Given the description of an element on the screen output the (x, y) to click on. 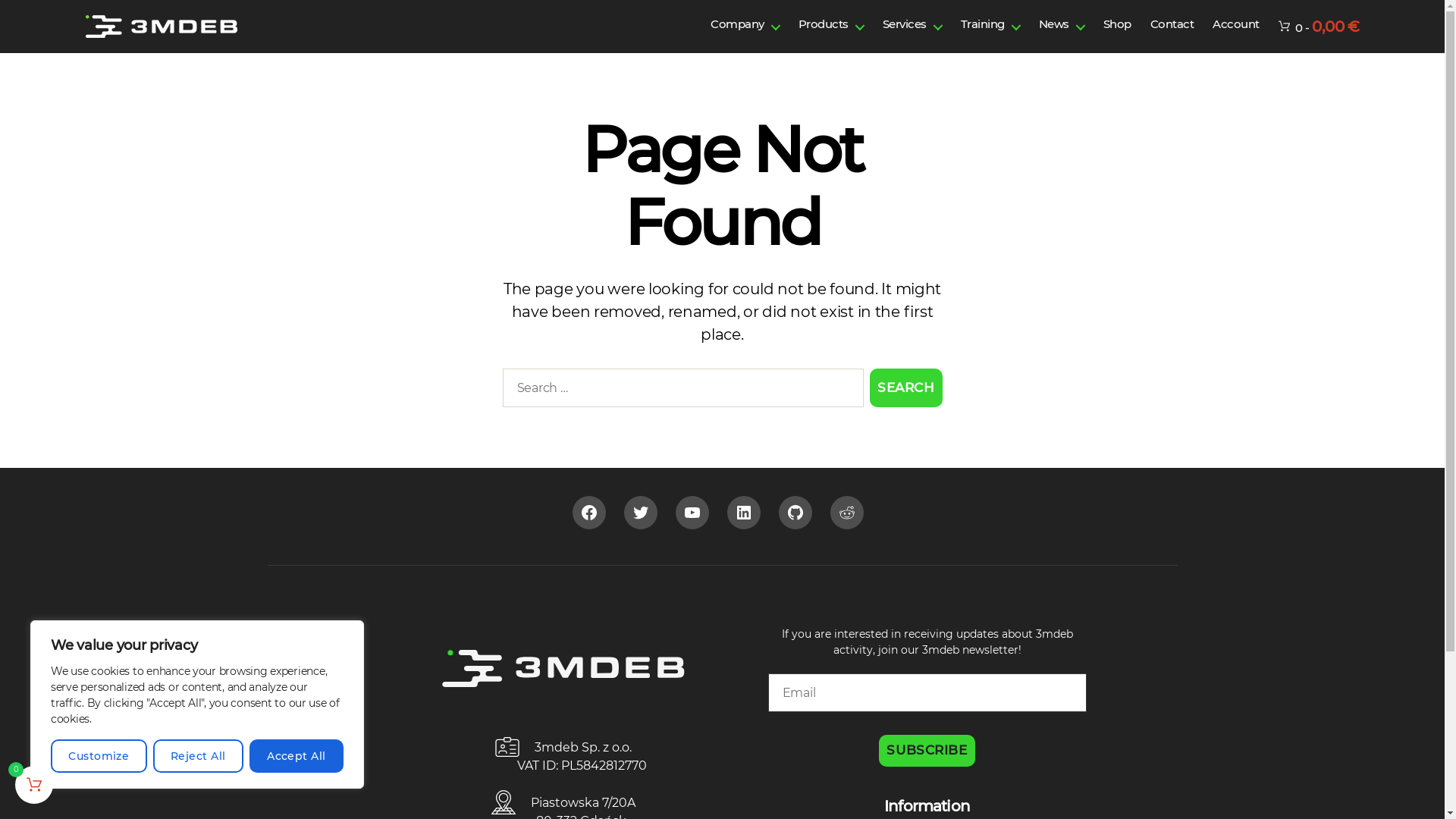
Search Element type: text (905, 387)
Contact Element type: text (1172, 24)
Facebook Element type: text (588, 512)
Youtube Element type: text (692, 512)
Accept All Element type: text (296, 755)
Reject All Element type: text (198, 755)
SUBSCRIBE Element type: text (926, 749)
Services Element type: text (911, 24)
Customize Element type: text (98, 755)
Training Element type: text (989, 24)
LinkedIn Element type: text (743, 512)
Reddit Element type: text (846, 512)
Shop Element type: text (1117, 24)
Company Element type: text (744, 24)
Github Element type: text (795, 512)
Account Element type: text (1235, 24)
Products Element type: text (830, 24)
News Element type: text (1061, 24)
Twitter Element type: text (640, 512)
